Given the description of an element on the screen output the (x, y) to click on. 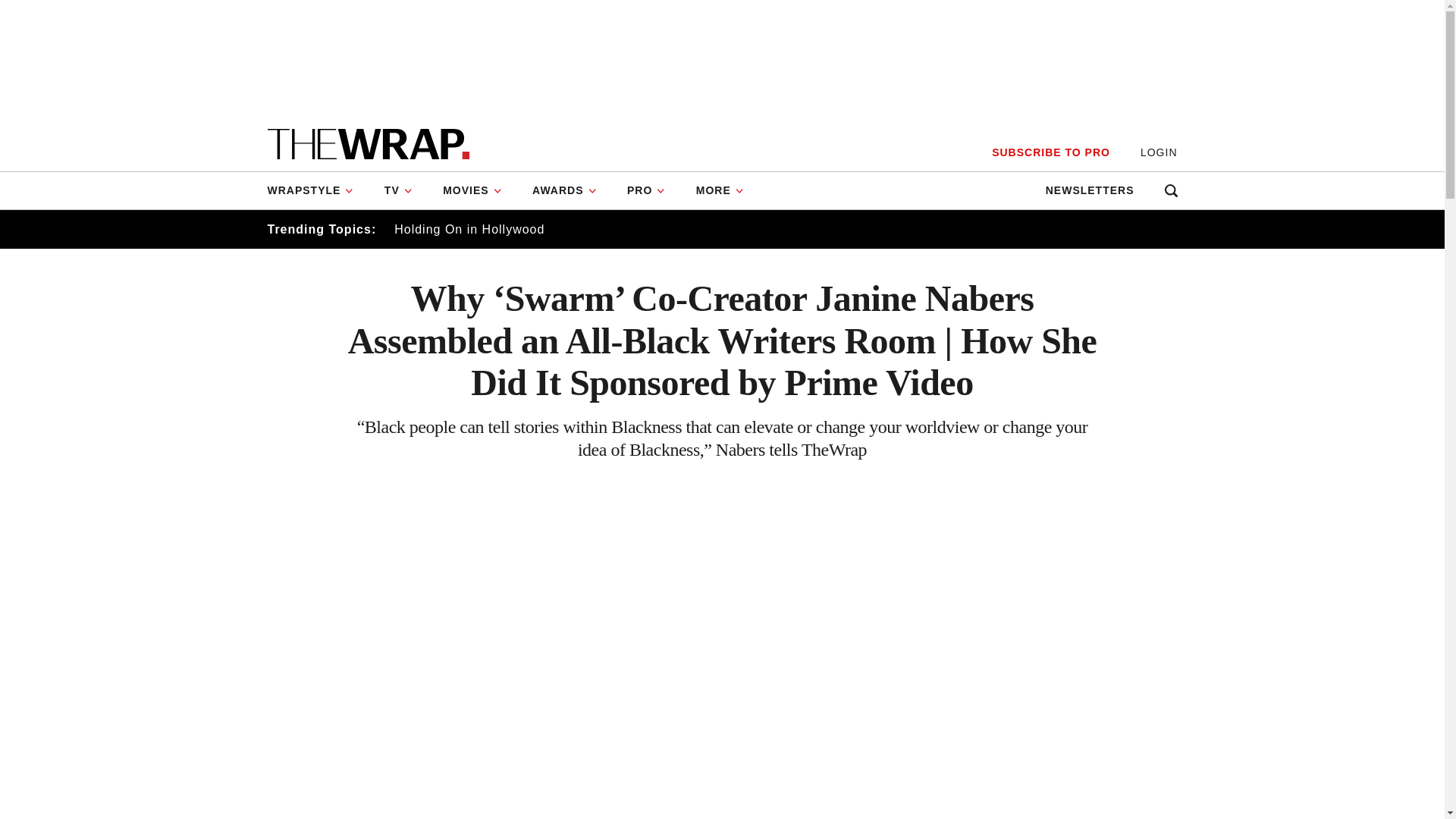
SUBSCRIBE TO PRO (1050, 152)
LOGIN (1158, 152)
TV (398, 190)
MOVIES (472, 190)
MORE (719, 190)
WRAPSTYLE (317, 190)
PRO (646, 190)
AWARDS (563, 190)
